Given the description of an element on the screen output the (x, y) to click on. 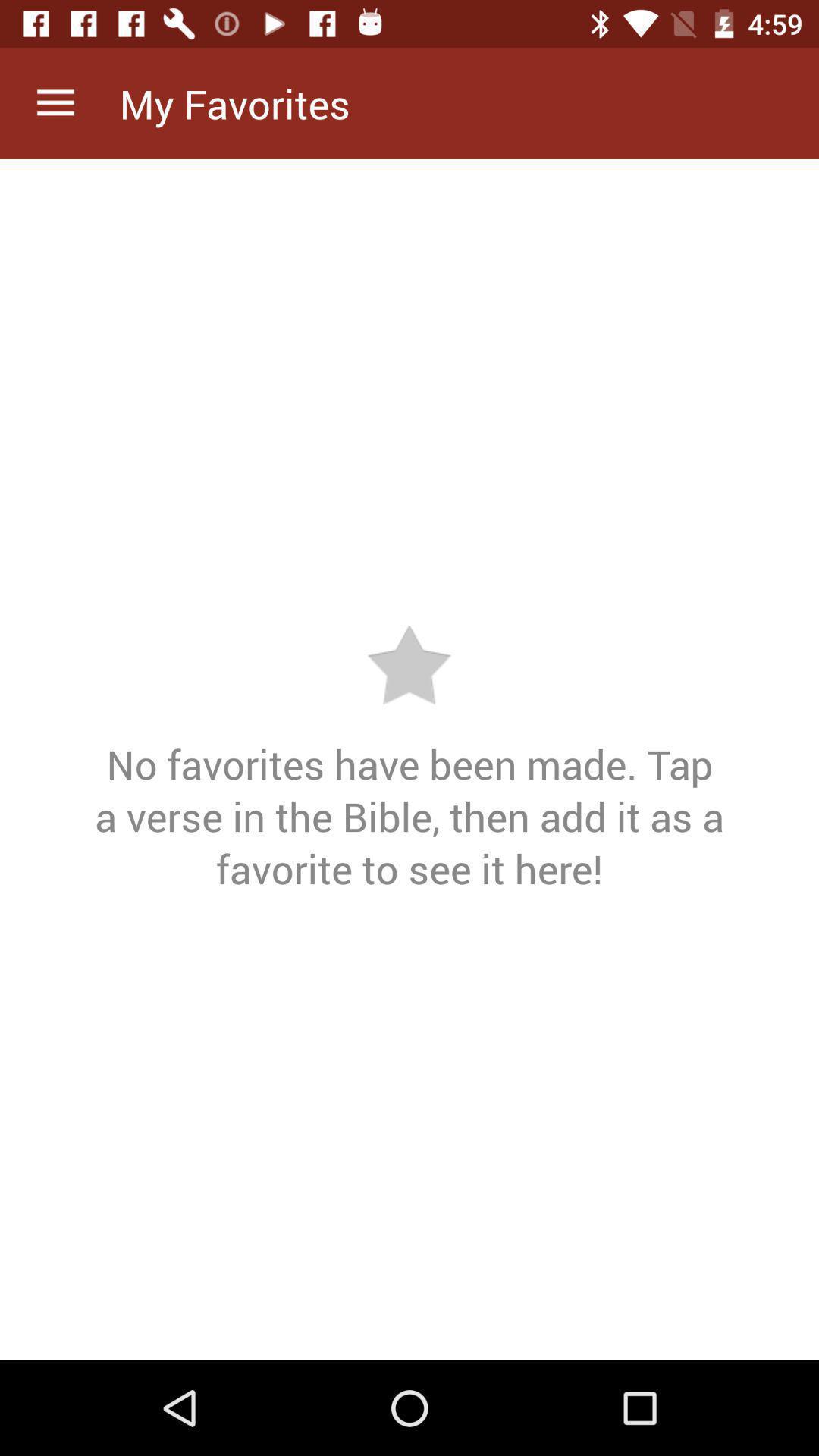
open icon above the no favorites have item (55, 103)
